Given the description of an element on the screen output the (x, y) to click on. 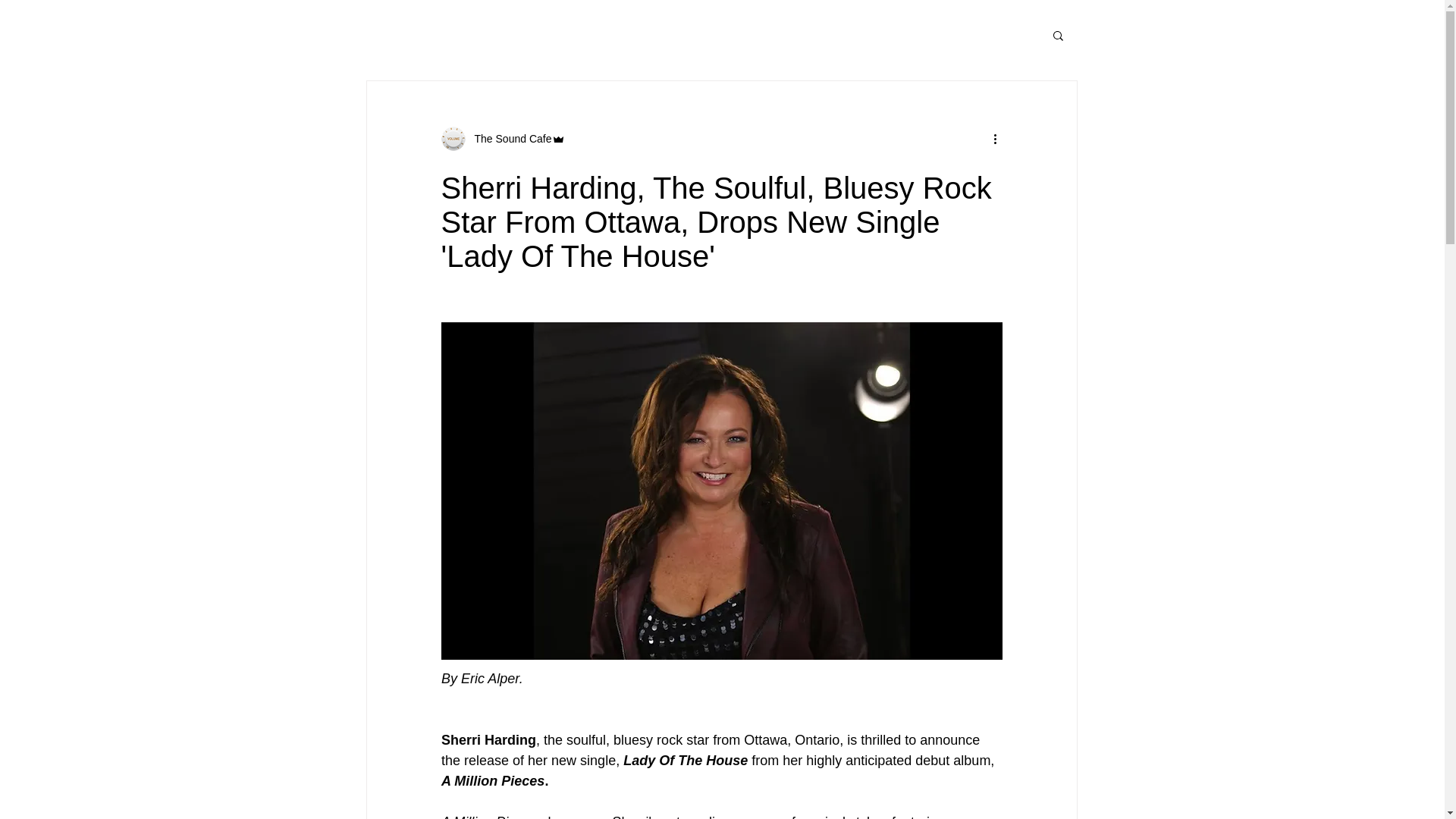
The Sound Cafe (508, 138)
